Given the description of an element on the screen output the (x, y) to click on. 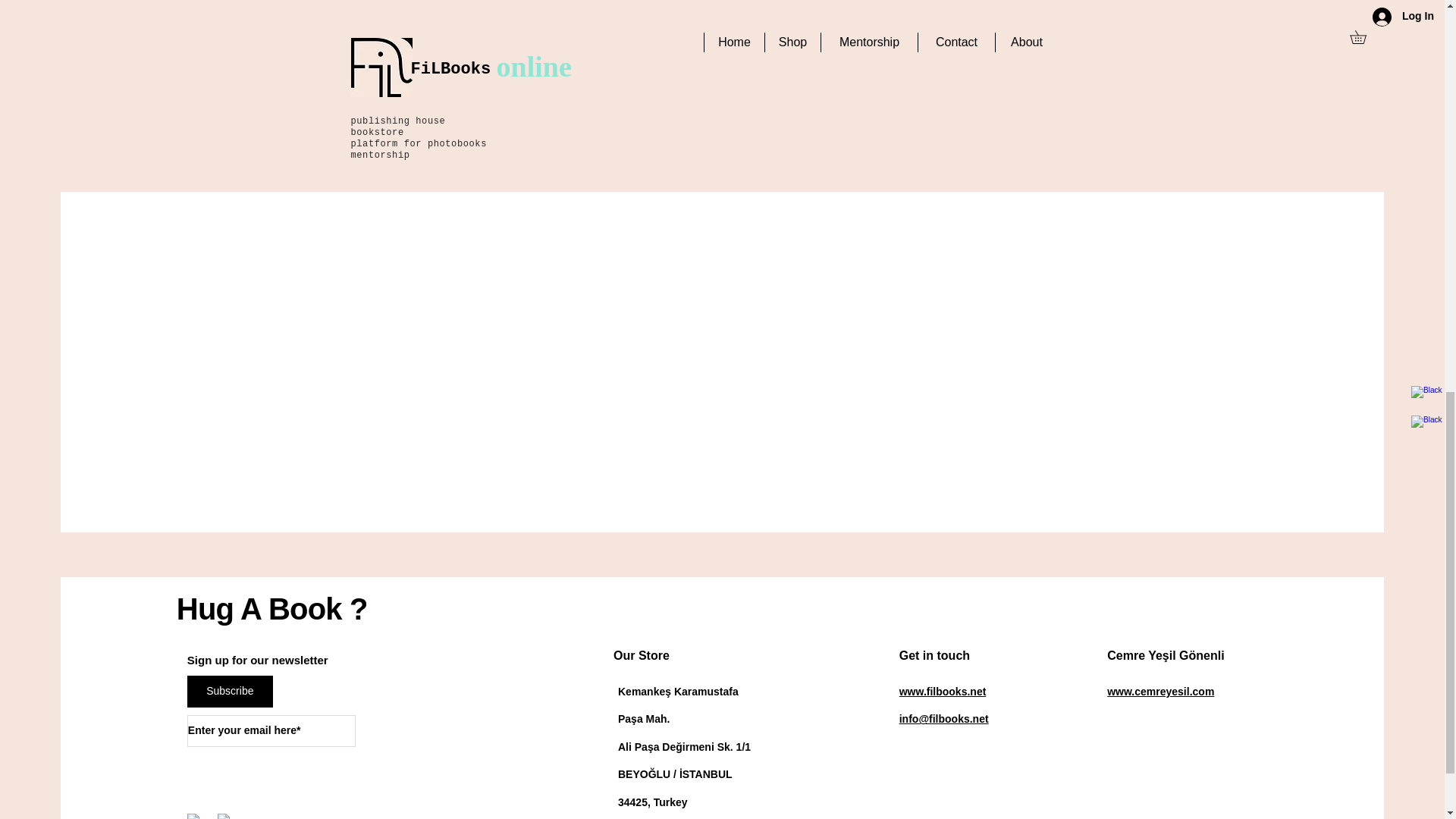
www.cemreyesil.com (1160, 691)
Subscribe (230, 691)
www.filbooks.net (943, 691)
